Given the description of an element on the screen output the (x, y) to click on. 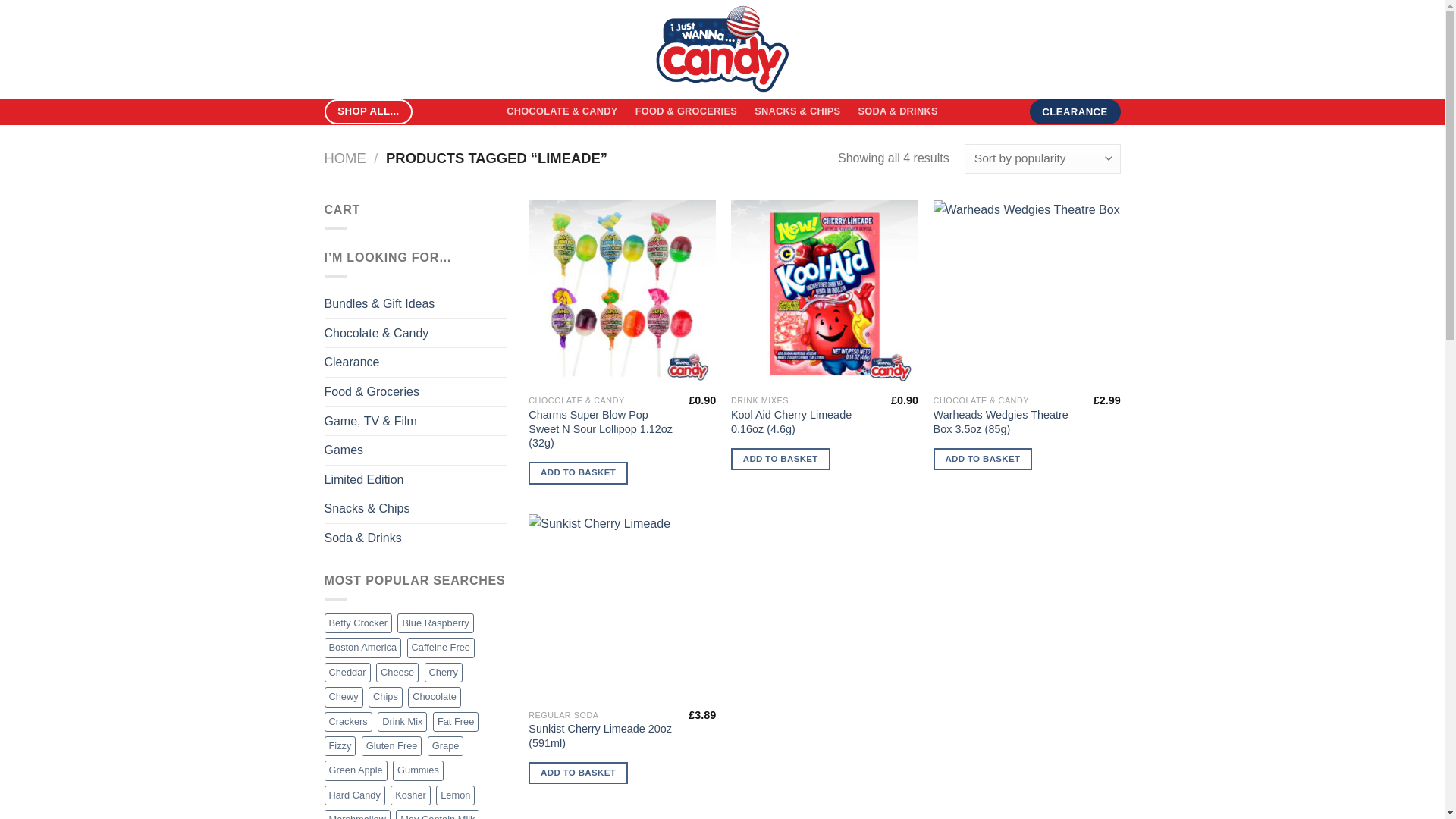
CLEARANCE (1075, 112)
LOGIN (1037, 49)
SHOP ALL... (368, 111)
Basket (1097, 49)
HOME (345, 157)
Clearance (415, 362)
Search (454, 49)
